Given the description of an element on the screen output the (x, y) to click on. 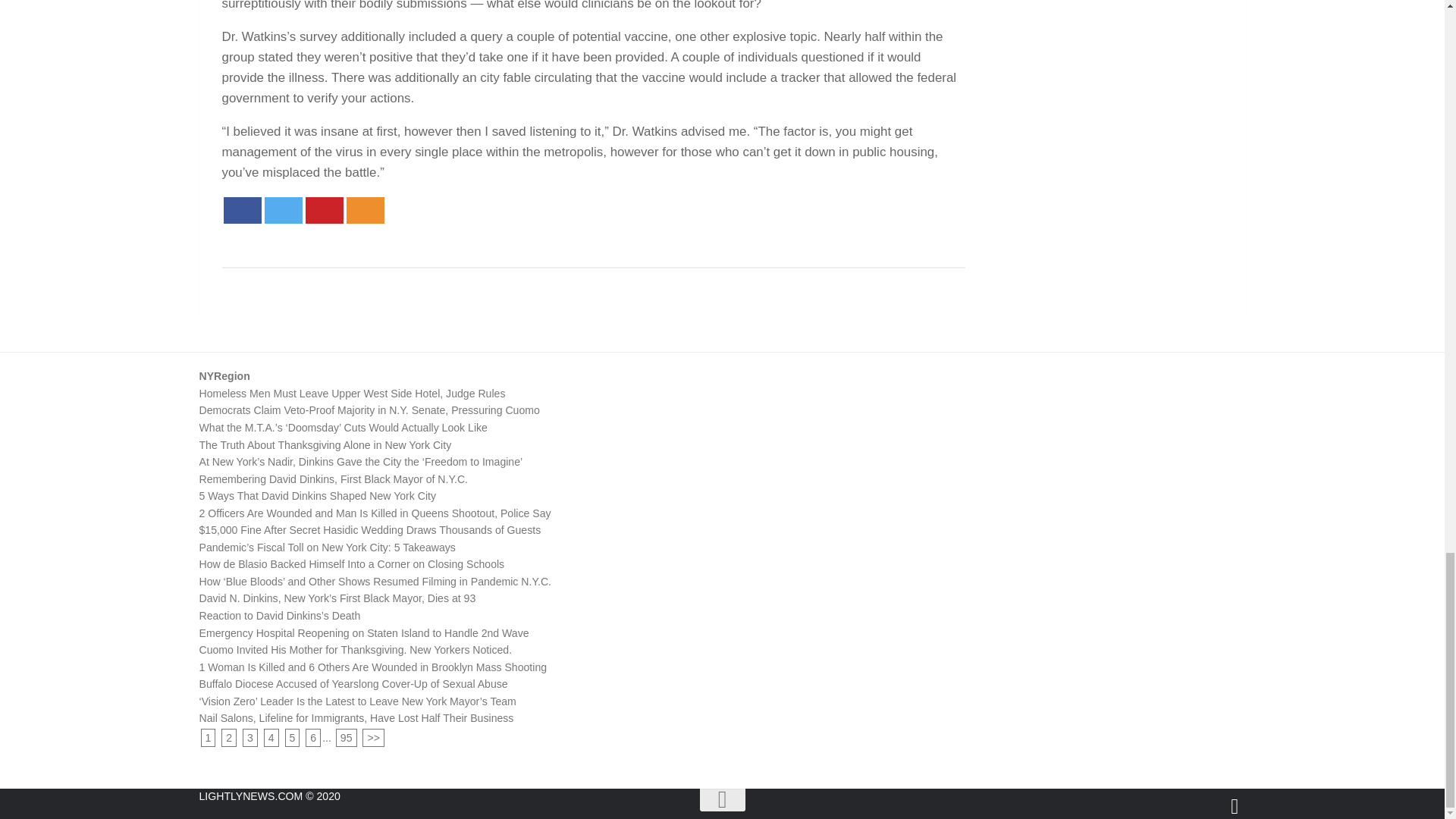
Twitter (282, 210)
Pinterest (323, 210)
More (365, 210)
Facebook (241, 210)
